Given the description of an element on the screen output the (x, y) to click on. 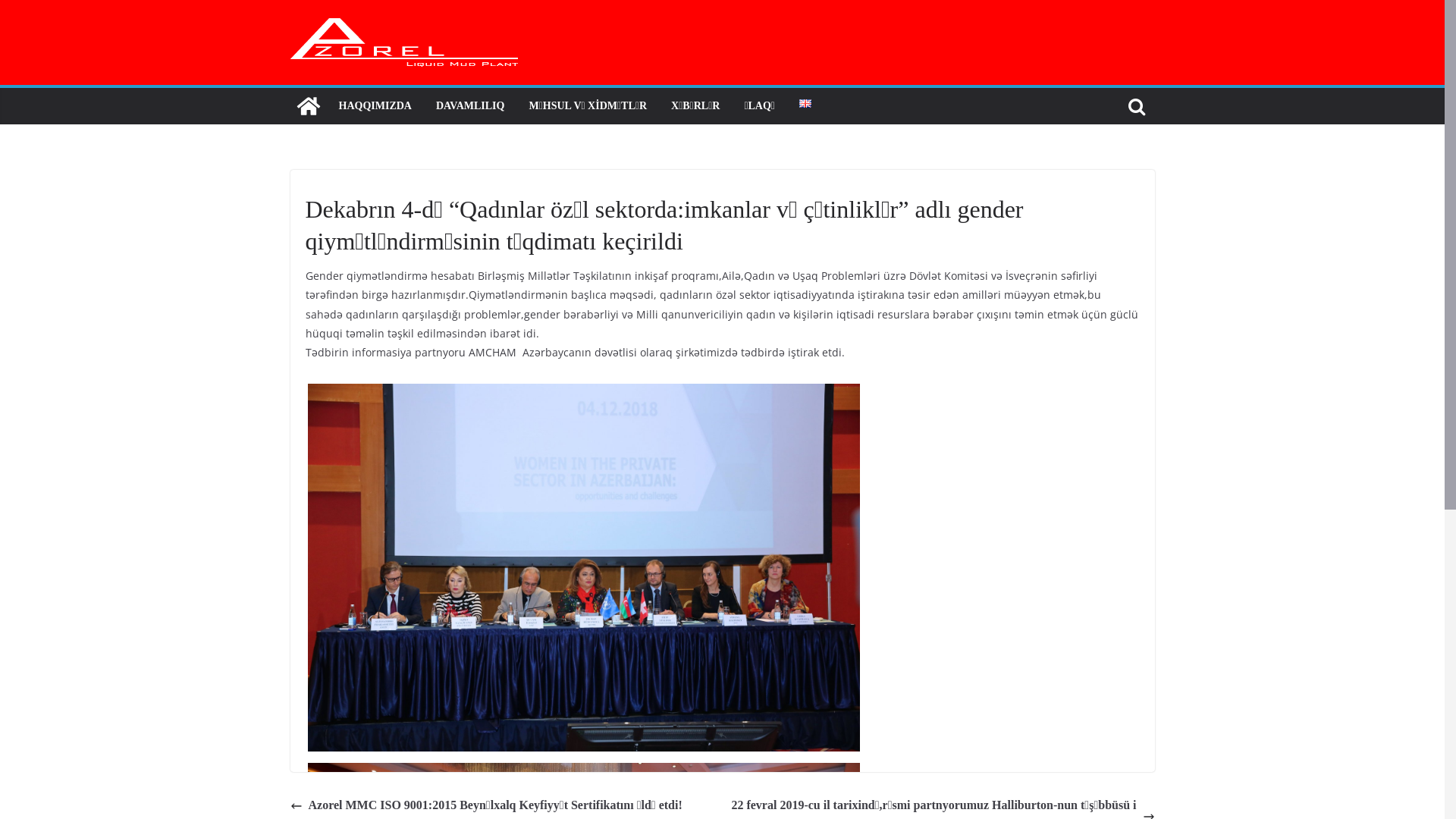
DAVAMLILIQ Element type: text (470, 105)
HAQQIMIZDA Element type: text (374, 105)
AZOREL Element type: hover (307, 105)
